Given the description of an element on the screen output the (x, y) to click on. 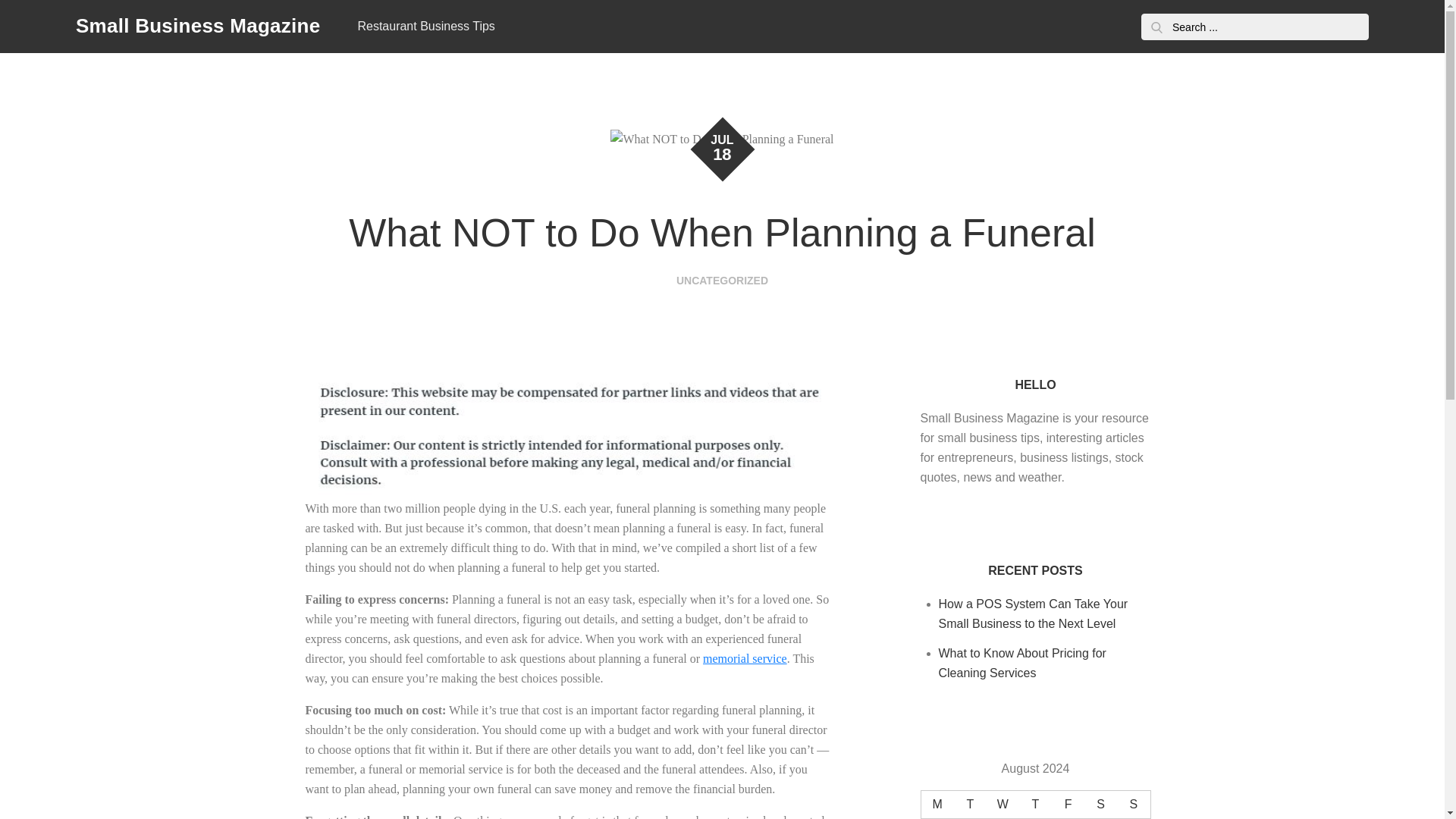
Sunday (1133, 804)
Small Business Magazine (197, 25)
Search (1156, 26)
What to Know About Pricing for Cleaning Services (1022, 663)
Wednesday (1003, 804)
Search for: (1254, 26)
Monday (936, 804)
Friday (1067, 804)
UNCATEGORIZED (722, 280)
